Given the description of an element on the screen output the (x, y) to click on. 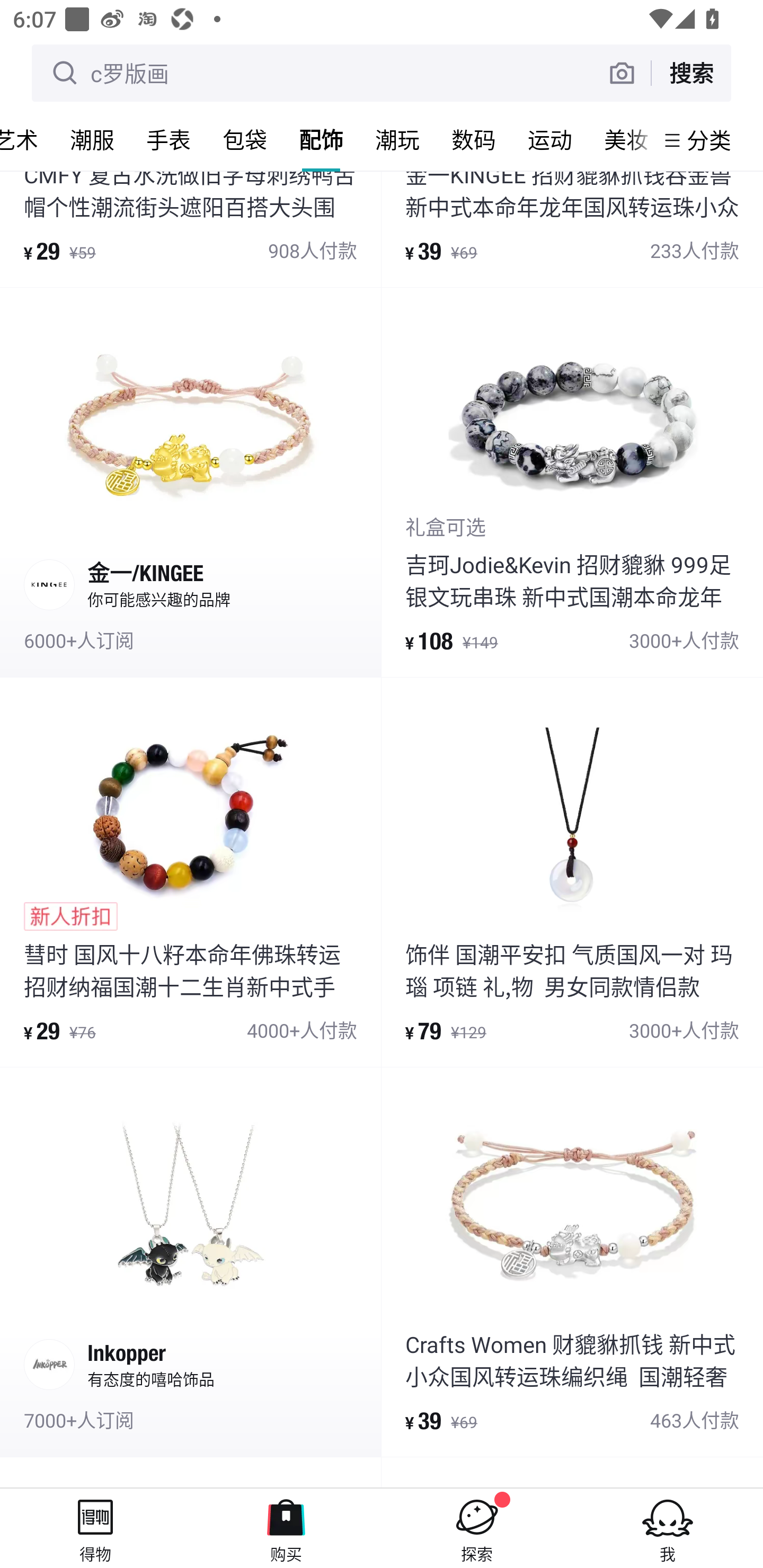
c罗版画 搜索 (381, 72)
搜索 (690, 72)
艺术 (27, 139)
潮服 (92, 139)
手表 (168, 139)
包袋 (244, 139)
配饰 (321, 139)
潮玩 (397, 139)
数码 (473, 139)
运动 (549, 139)
美妆 (621, 139)
分类 (708, 139)
金一/KINGEE 你可能感兴趣的品牌 6000+人订阅 (190, 481)
Inkopper 有态度的嘻哈饰品 7000+人订阅 (190, 1261)
得物 (95, 1528)
购买 (285, 1528)
探索 (476, 1528)
我 (667, 1528)
